Given the description of an element on the screen output the (x, y) to click on. 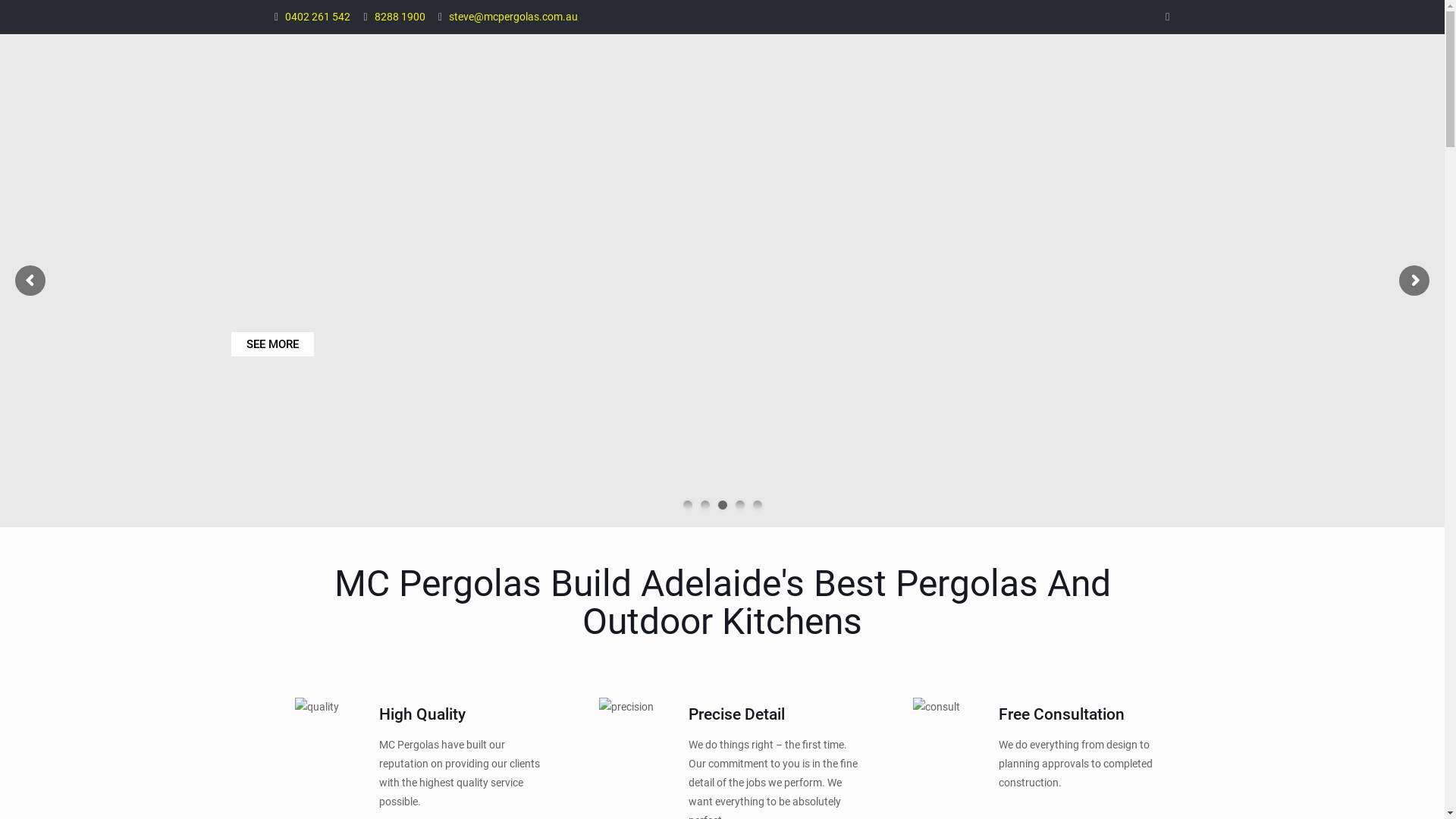
SEE MORE Element type: text (271, 344)
steve@mcpergolas.com.au Element type: text (512, 16)
0402 261 542 Element type: text (317, 16)
8288 1900 Element type: text (399, 16)
Facebook Element type: hover (1167, 16)
